Given the description of an element on the screen output the (x, y) to click on. 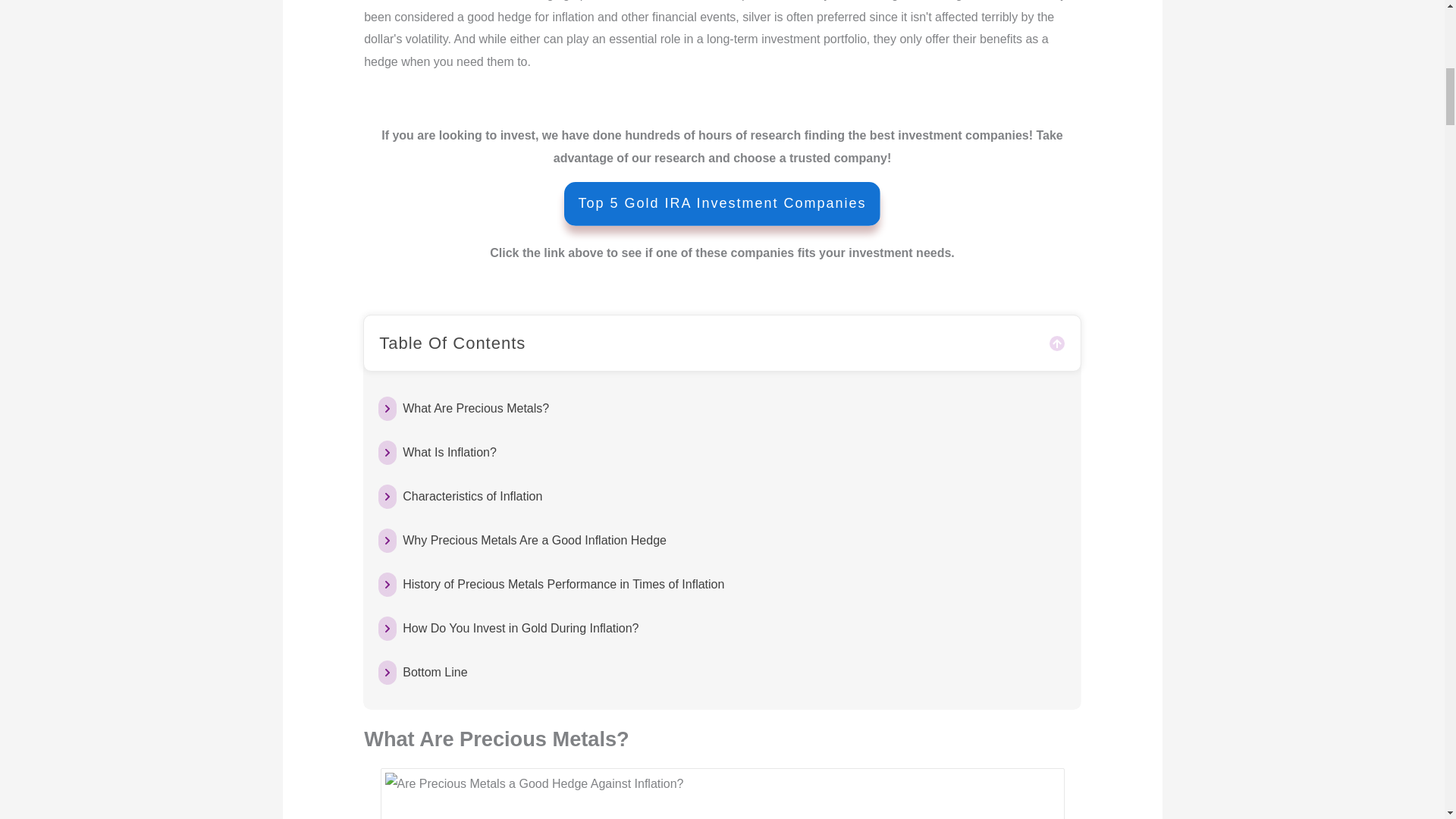
History of Precious Metals Performance in Times of Inflation (563, 584)
Why Precious Metals Are a Good Inflation Hedge (534, 540)
What Are Precious Metals? (475, 408)
How Do You Invest in Gold During Inflation? (521, 628)
History of Precious Metals Performance in Times of Inflation (563, 584)
What Is Inflation? (449, 452)
How Do You Invest in Gold During Inflation? (521, 628)
Bottom Line (435, 672)
Why Precious Metals Are a Good Inflation Hedge (534, 540)
Top 5 Gold IRA Investment Companies (721, 203)
What Are Precious Metals? (475, 408)
Characteristics of Inflation (472, 496)
Are Precious Metals a Good Hedge Against Inflation? (722, 796)
What Is Inflation? (449, 452)
